Given the description of an element on the screen output the (x, y) to click on. 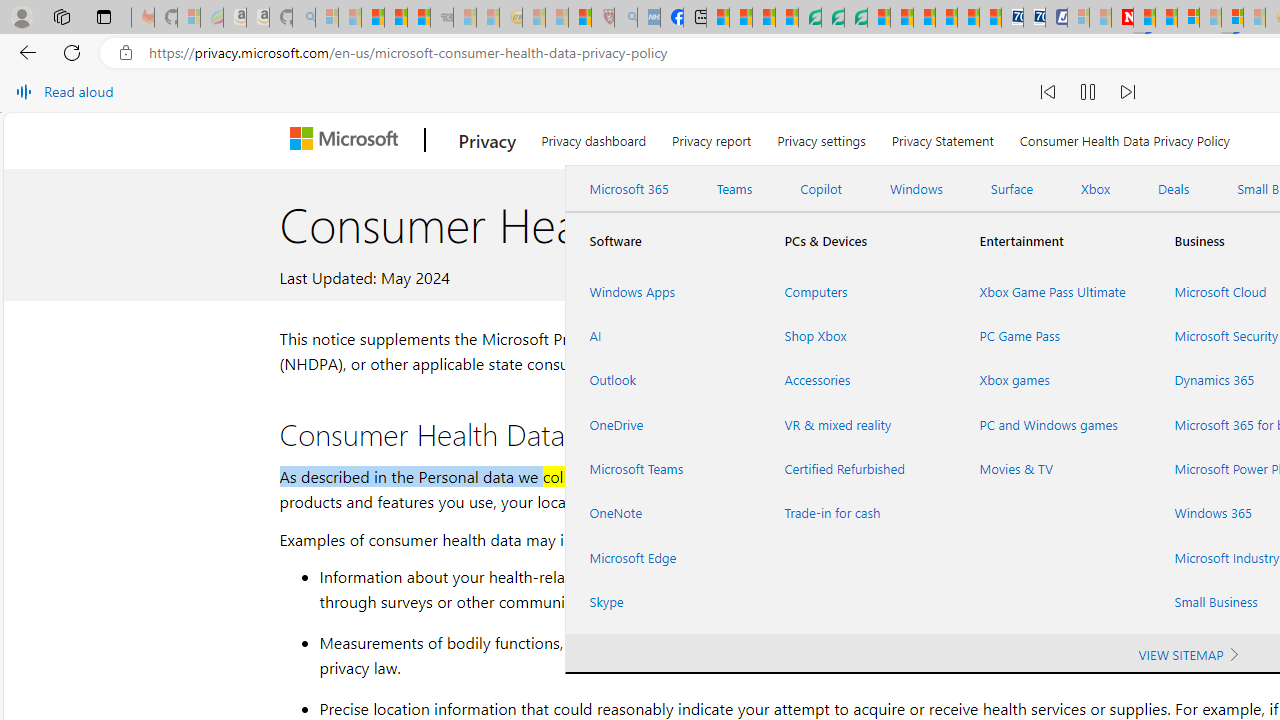
14 Common Myths Debunked By Scientific Facts (1166, 17)
PC and Windows games (1052, 424)
Privacy settings (821, 137)
MSNBC - MSN (717, 17)
Skype (662, 601)
VR & mixed reality (858, 424)
Recipes - MSN - Sleeping (534, 17)
Consumer Health Data Privacy Policy (1124, 137)
Trade-in for cash (858, 513)
